Given the description of an element on the screen output the (x, y) to click on. 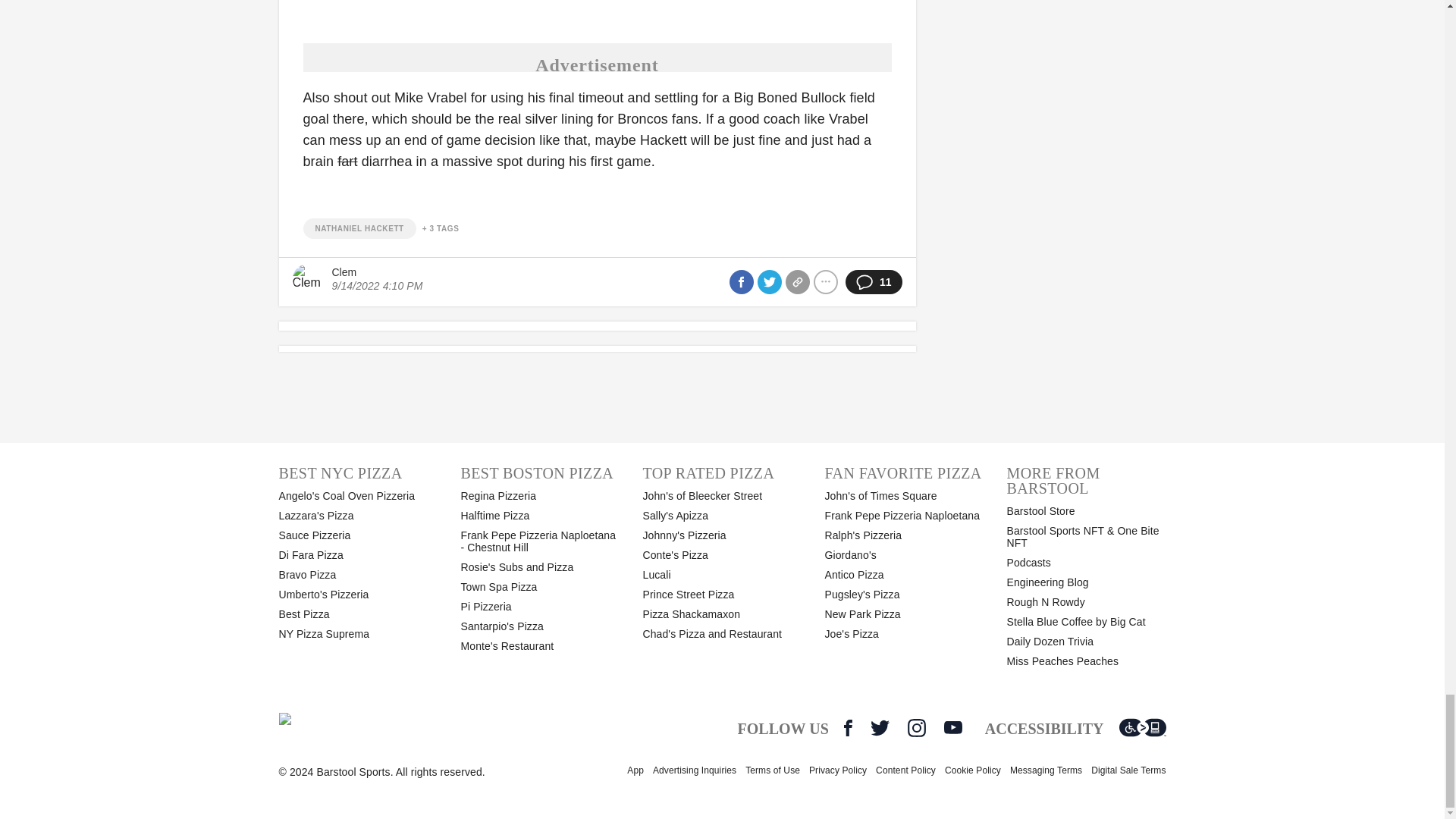
Level Access website accessibility icon (1142, 727)
YouTube Icon (952, 727)
Twitter Icon (879, 728)
Instagram Icon (916, 728)
